Given the description of an element on the screen output the (x, y) to click on. 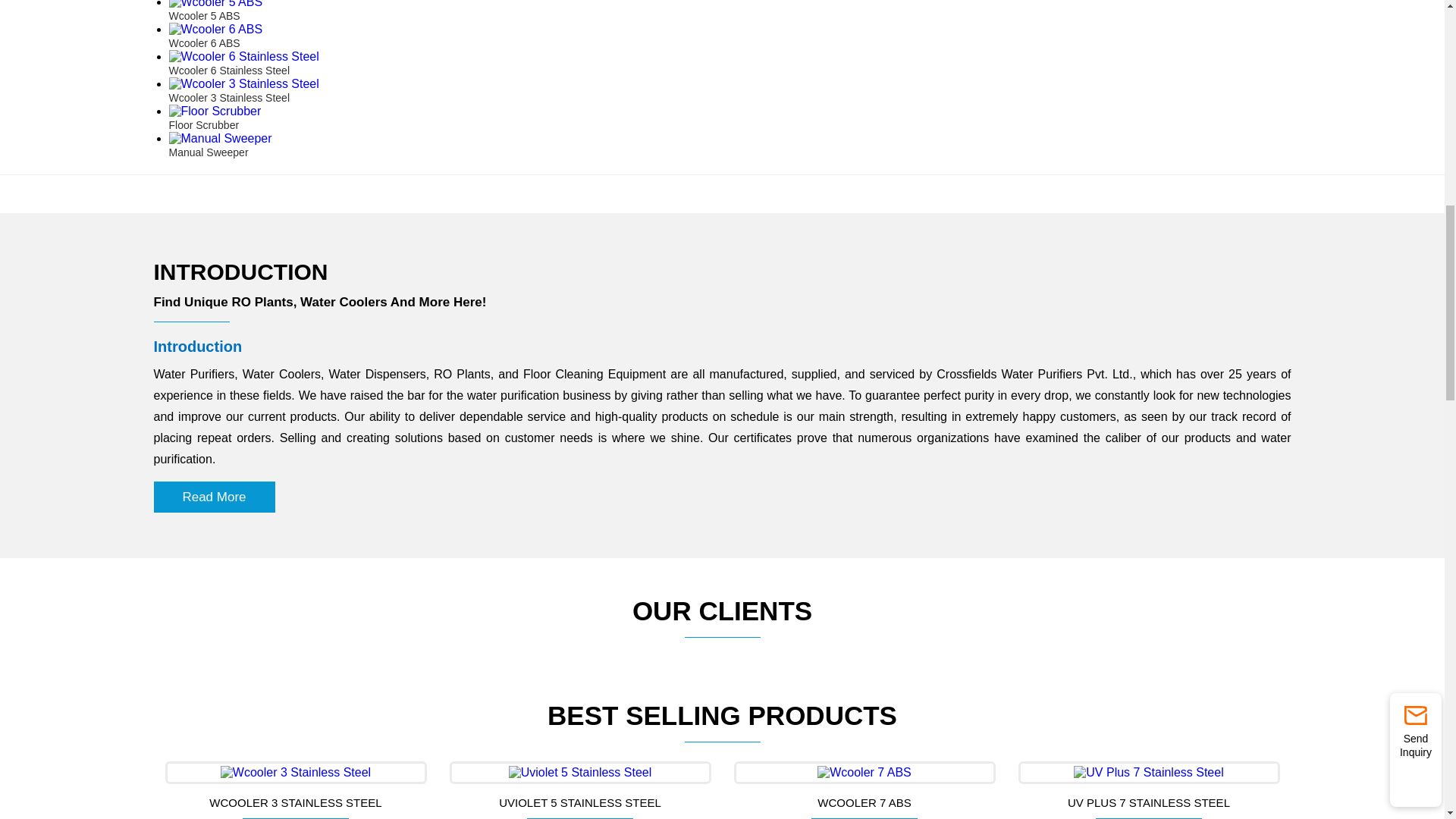
UV Plus 7 Stainless Steel (1148, 772)
Uviolet 5 Stainless Steel (580, 772)
Wcooler 7 ABS (863, 772)
Wcooler 3 Stainless Steel (296, 772)
